Given the description of an element on the screen output the (x, y) to click on. 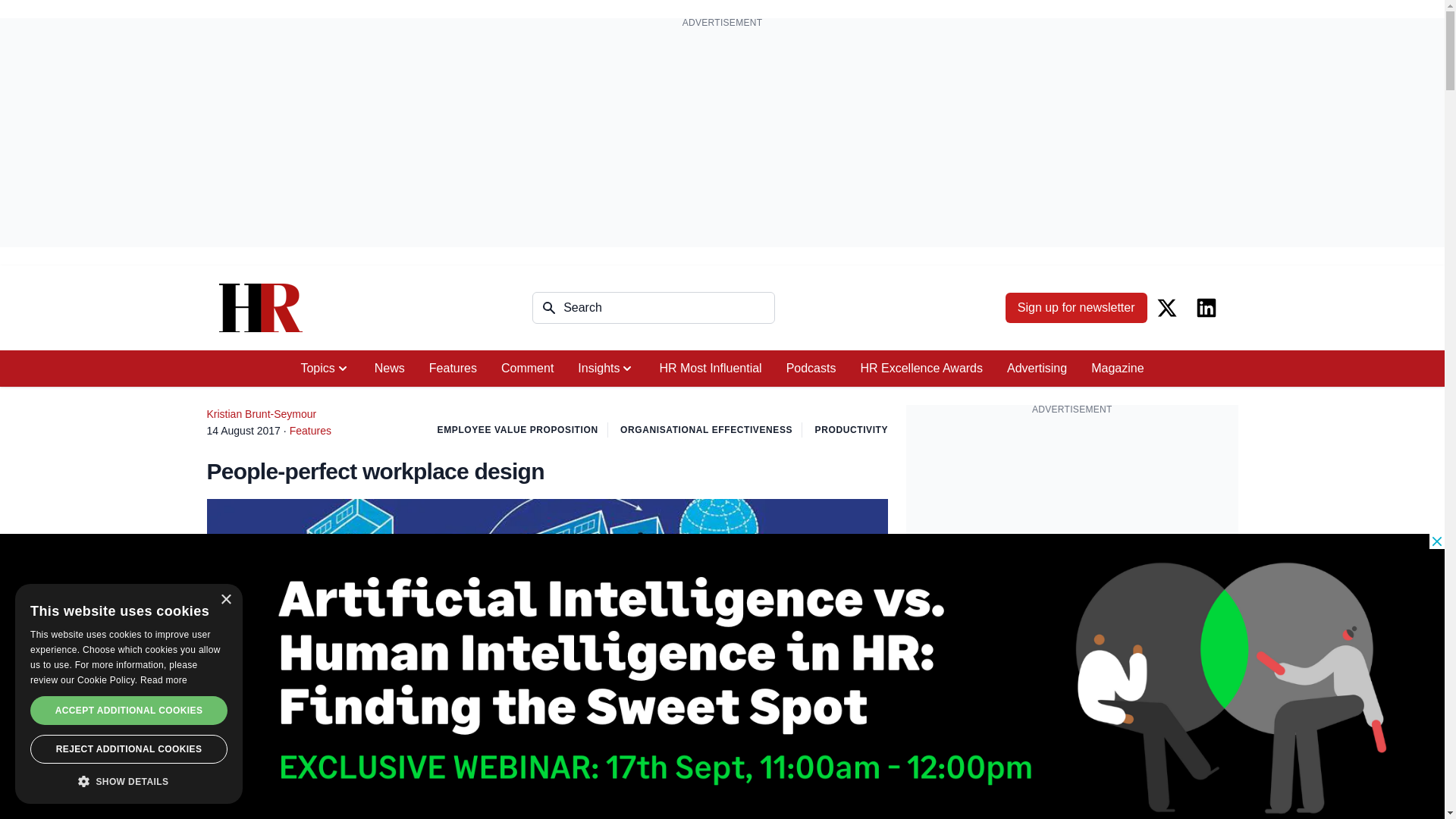
3rd party ad content (1072, 520)
Features (452, 368)
News (389, 368)
Insights (606, 368)
HR Most Influential (709, 368)
Sign up for newsletter (1076, 307)
Comment (527, 368)
Topics (324, 368)
Podcasts (811, 368)
